Given the description of an element on the screen output the (x, y) to click on. 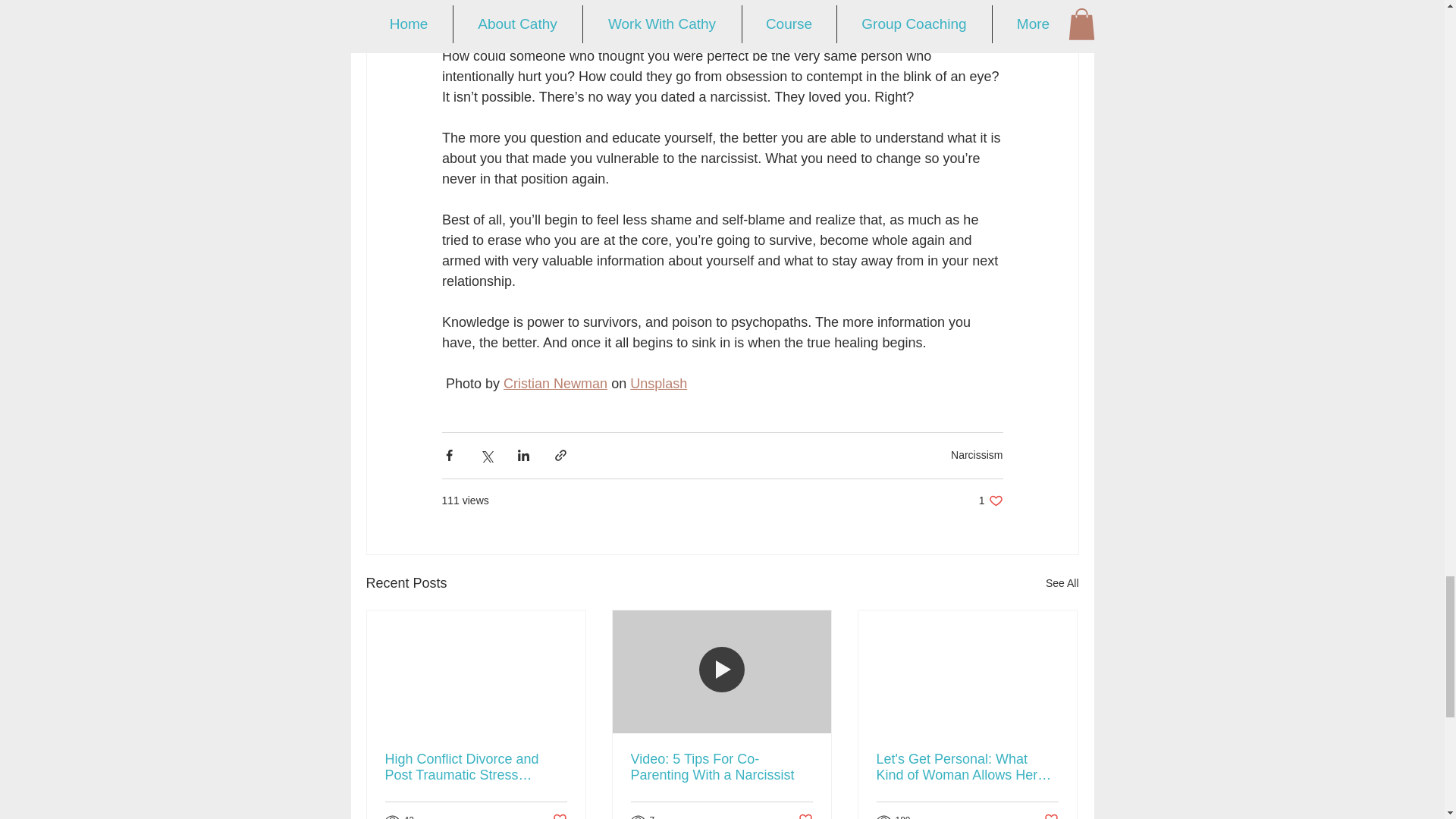
Unsplash (990, 500)
See All (658, 383)
Narcissism (1061, 583)
Cristian Newman (976, 454)
